Given the description of an element on the screen output the (x, y) to click on. 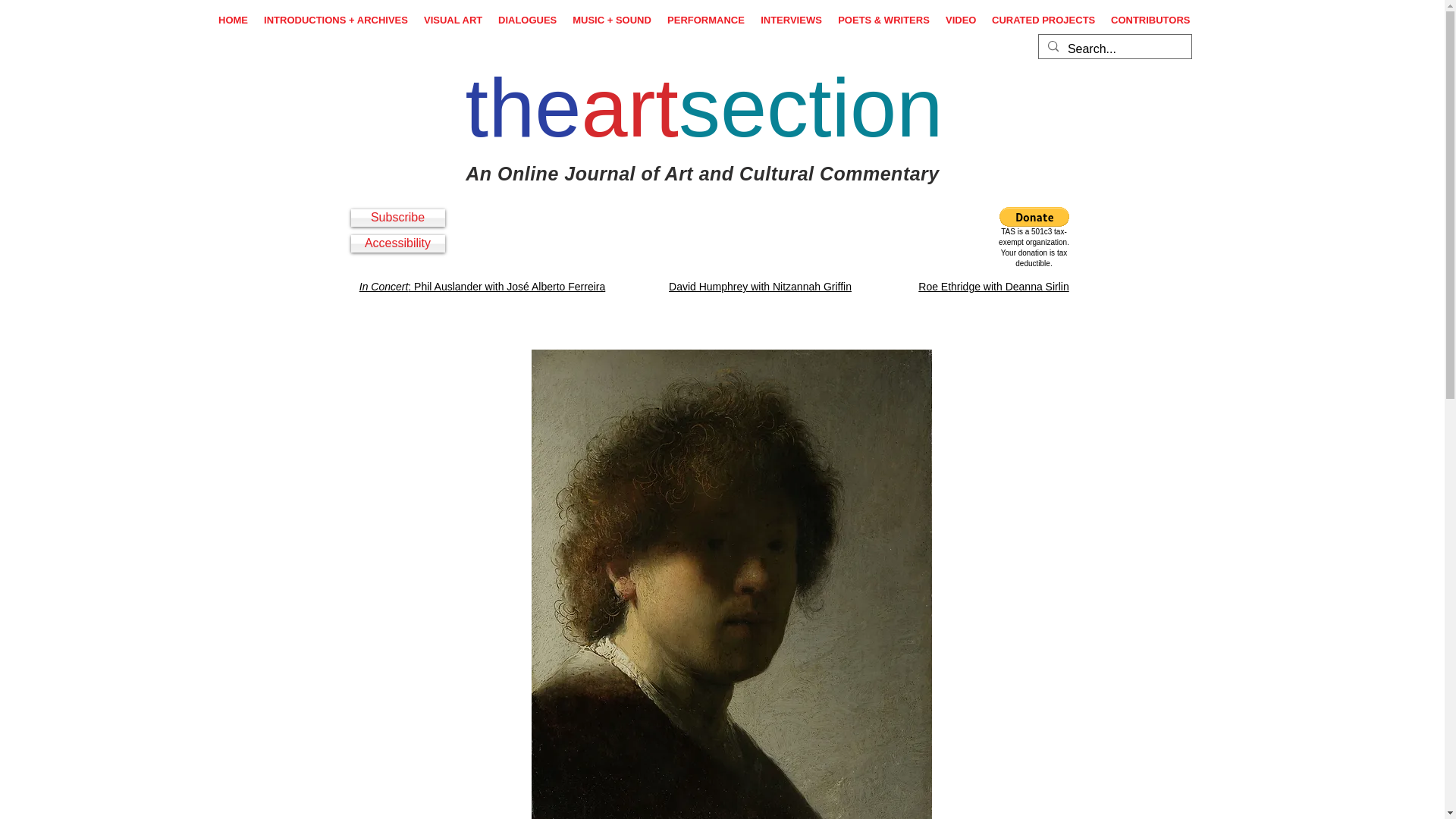
CONTRIBUTORS (1149, 20)
DIALOGUES (527, 20)
VISUAL ART (452, 20)
PERFORMANCE (705, 20)
Accessibility (397, 243)
CURATED PROJECTS (1043, 20)
VIDEO (960, 20)
Subscribe (397, 217)
INTERVIEWS (790, 20)
Roe Ethridge with Deanna Sirlin (993, 286)
